Given the description of an element on the screen output the (x, y) to click on. 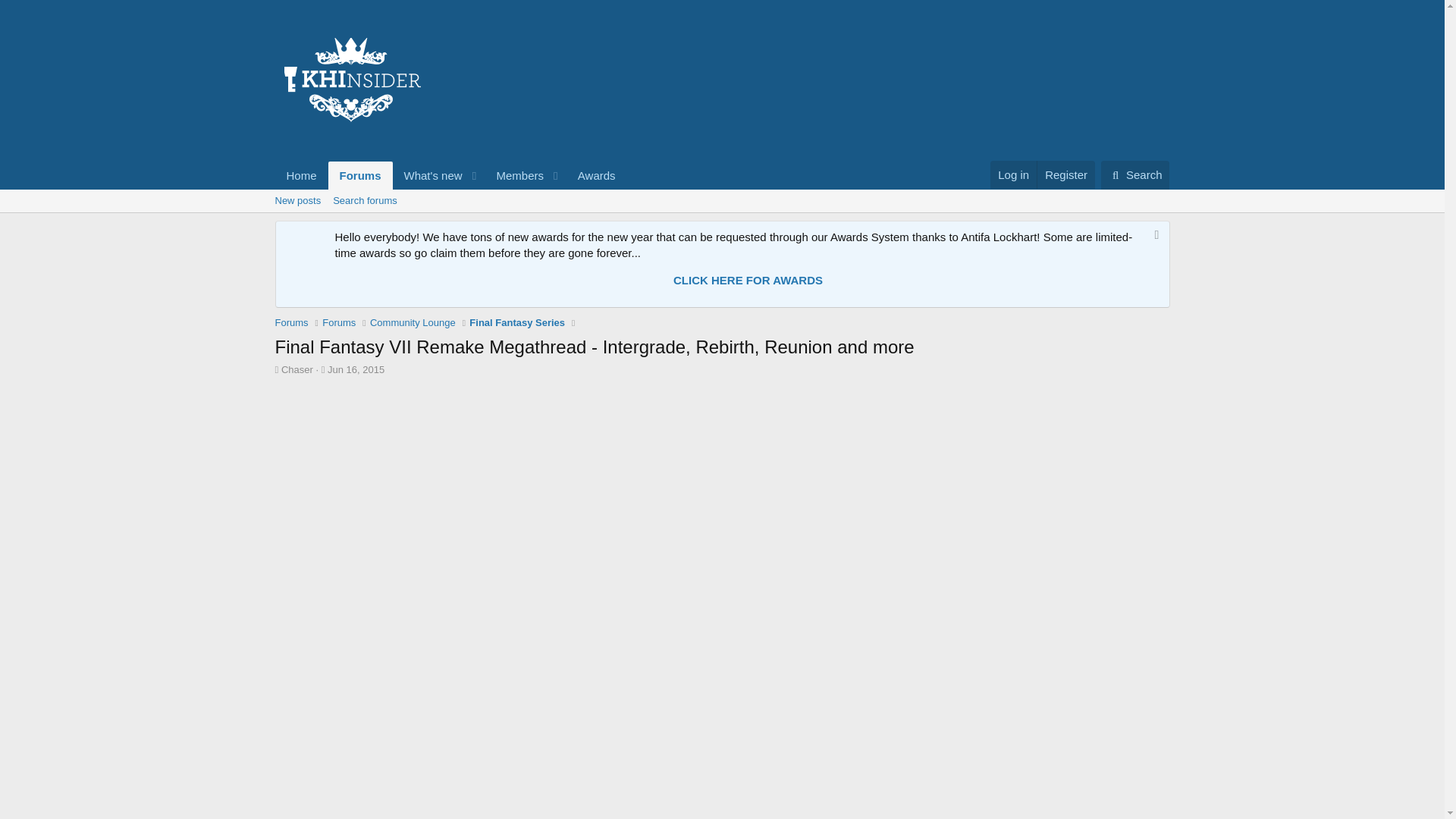
Log in (1013, 174)
Search (1135, 174)
Forums (291, 322)
Home (301, 175)
Forums (361, 175)
Jun 16, 2015 at 3:00 AM (355, 369)
Register (1065, 174)
Awards (596, 175)
Search forums (364, 200)
